Given the description of an element on the screen output the (x, y) to click on. 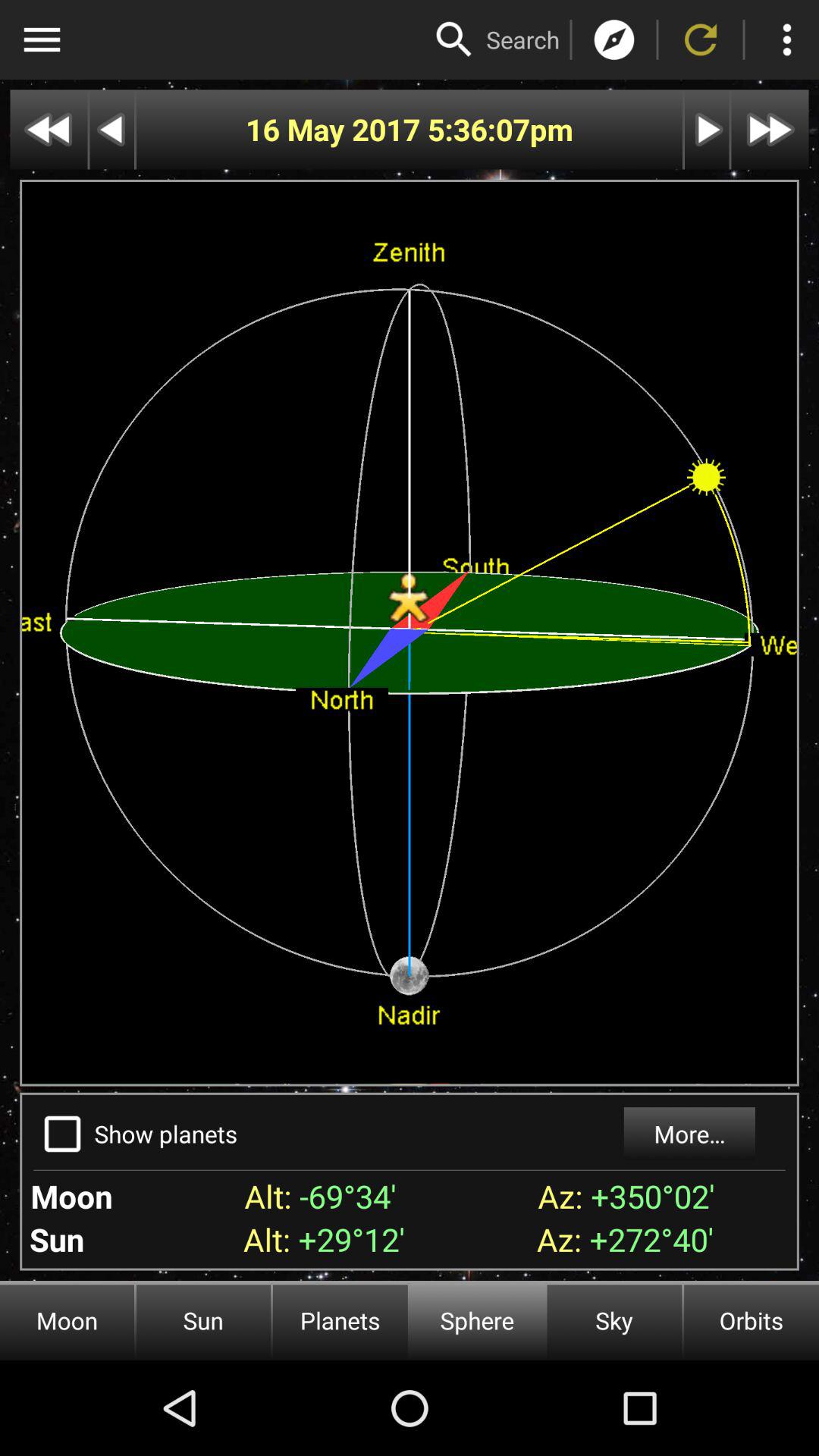
go to previous (48, 129)
